Given the description of an element on the screen output the (x, y) to click on. 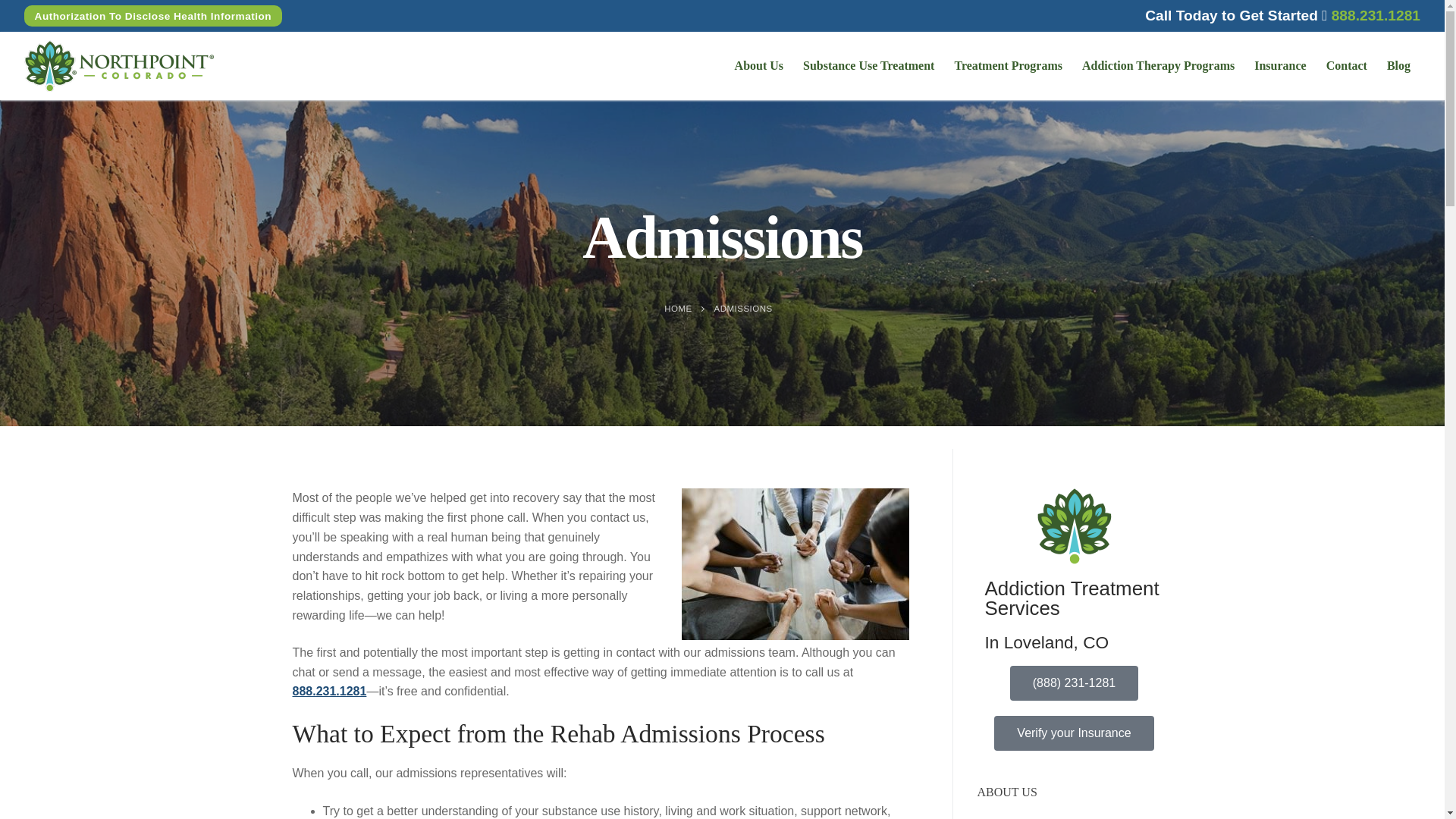
Treatment Programs (1007, 65)
About Us (759, 65)
Substance Use Treatment (868, 65)
Authorization To Disclose Health Information (153, 15)
